Given the description of an element on the screen output the (x, y) to click on. 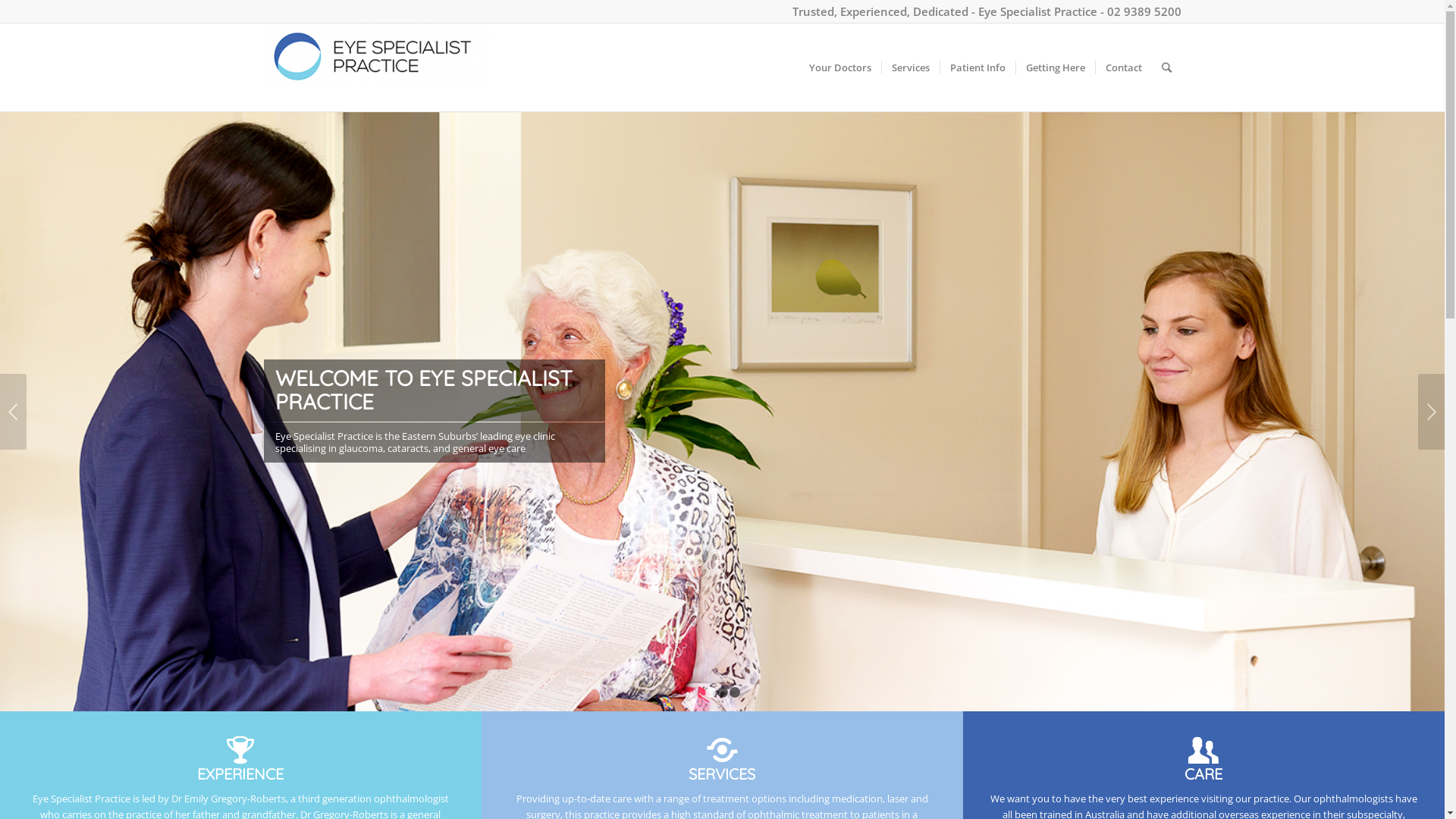
3 Element type: text (734, 692)
Getting Here Element type: text (1054, 67)
Previous Element type: text (13, 411)
1 Element type: text (710, 692)
Services Element type: text (910, 67)
2 Element type: text (722, 692)
Contact Element type: text (1123, 67)
180210-EyeSpecialist-175-1500 Element type: hover (722, 411)
Your Doctors Element type: text (840, 67)
Patient Info Element type: text (976, 67)
Next Element type: text (1431, 411)
